Given the description of an element on the screen output the (x, y) to click on. 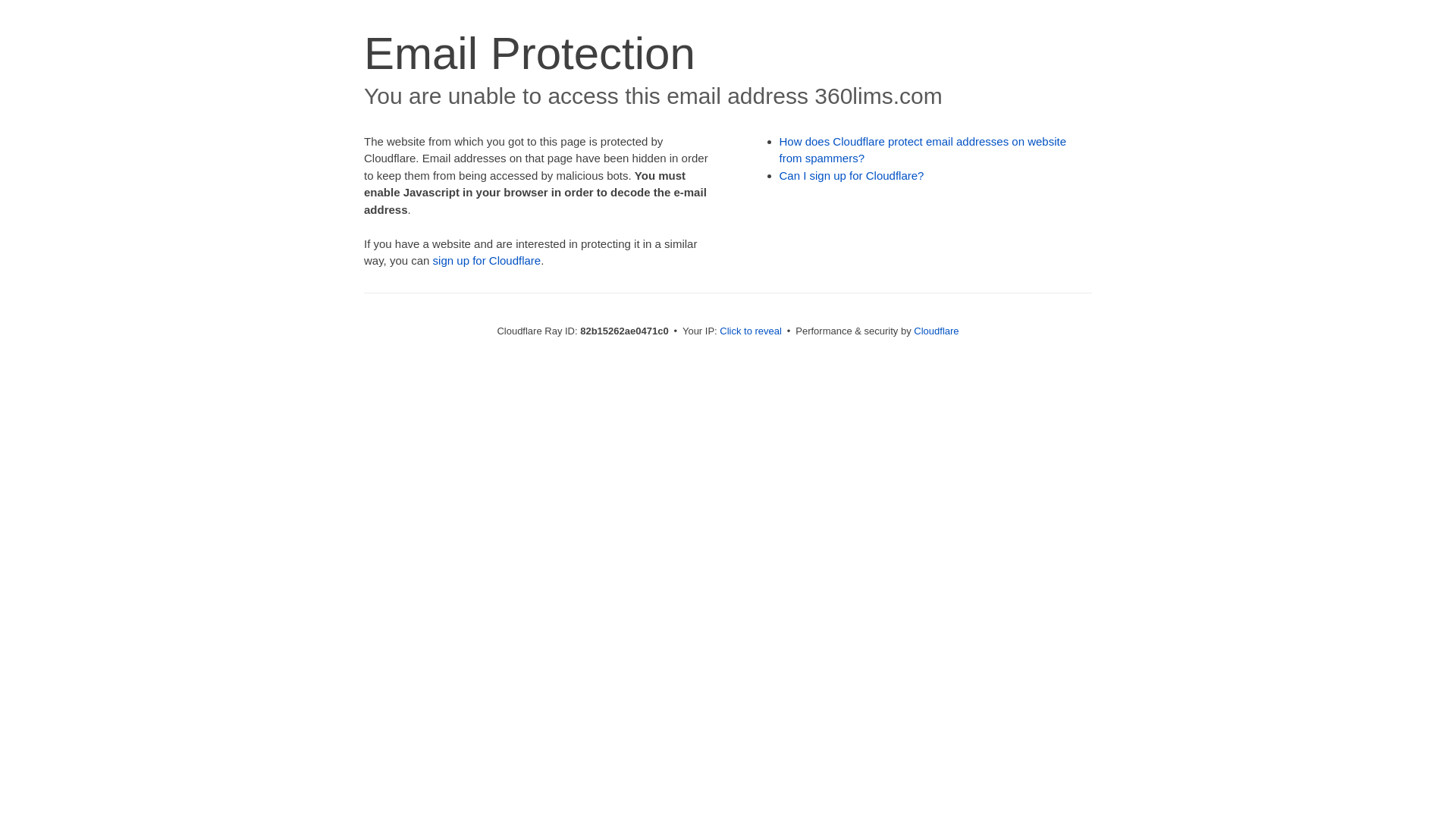
Can I sign up for Cloudflare? Element type: text (851, 175)
Click to reveal Element type: text (750, 330)
sign up for Cloudflare Element type: text (487, 260)
Cloudflare Element type: text (935, 330)
